Given the description of an element on the screen output the (x, y) to click on. 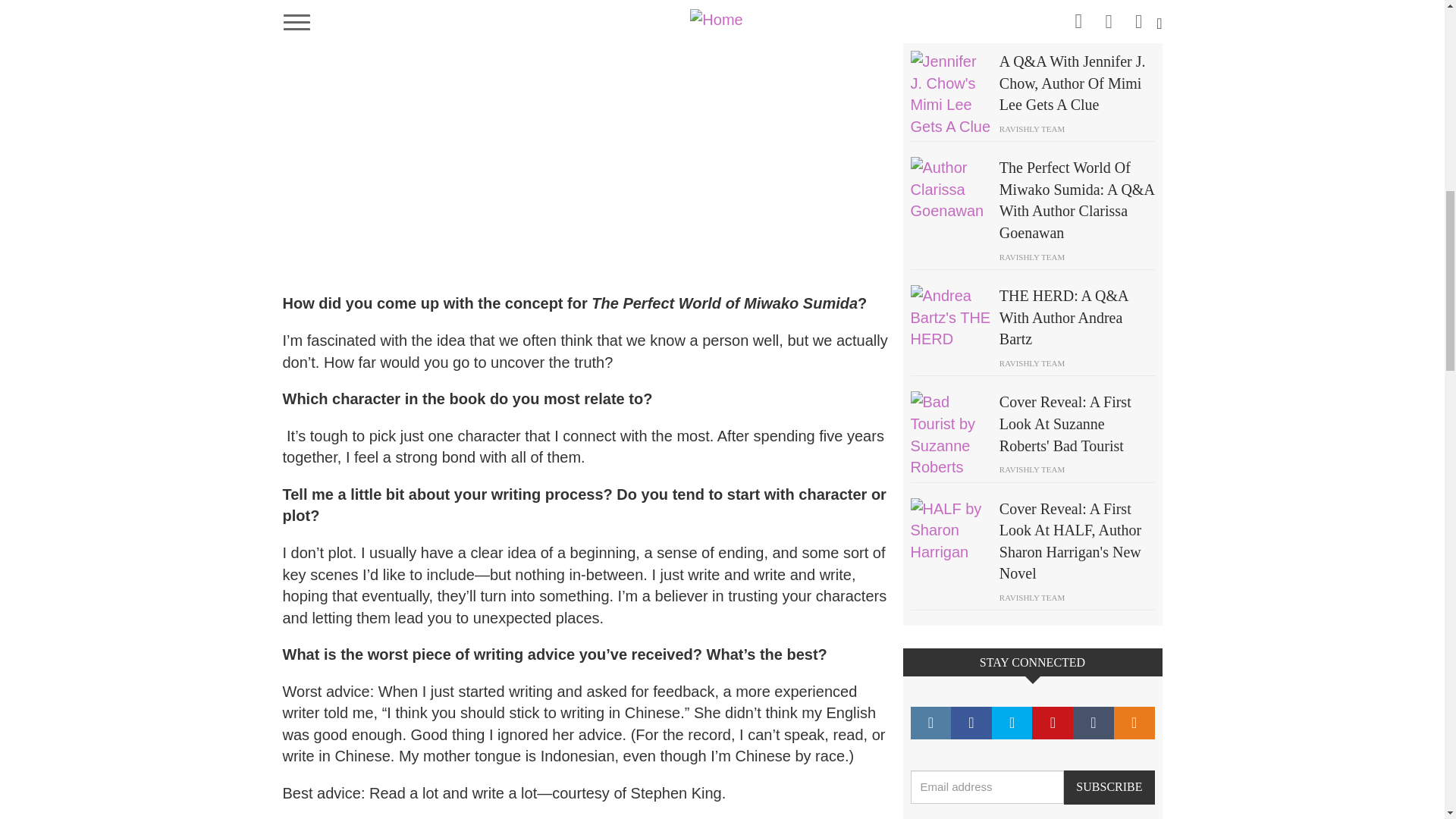
facebook (970, 722)
SUBSCRIBE (1109, 787)
instagram (930, 722)
